Given the description of an element on the screen output the (x, y) to click on. 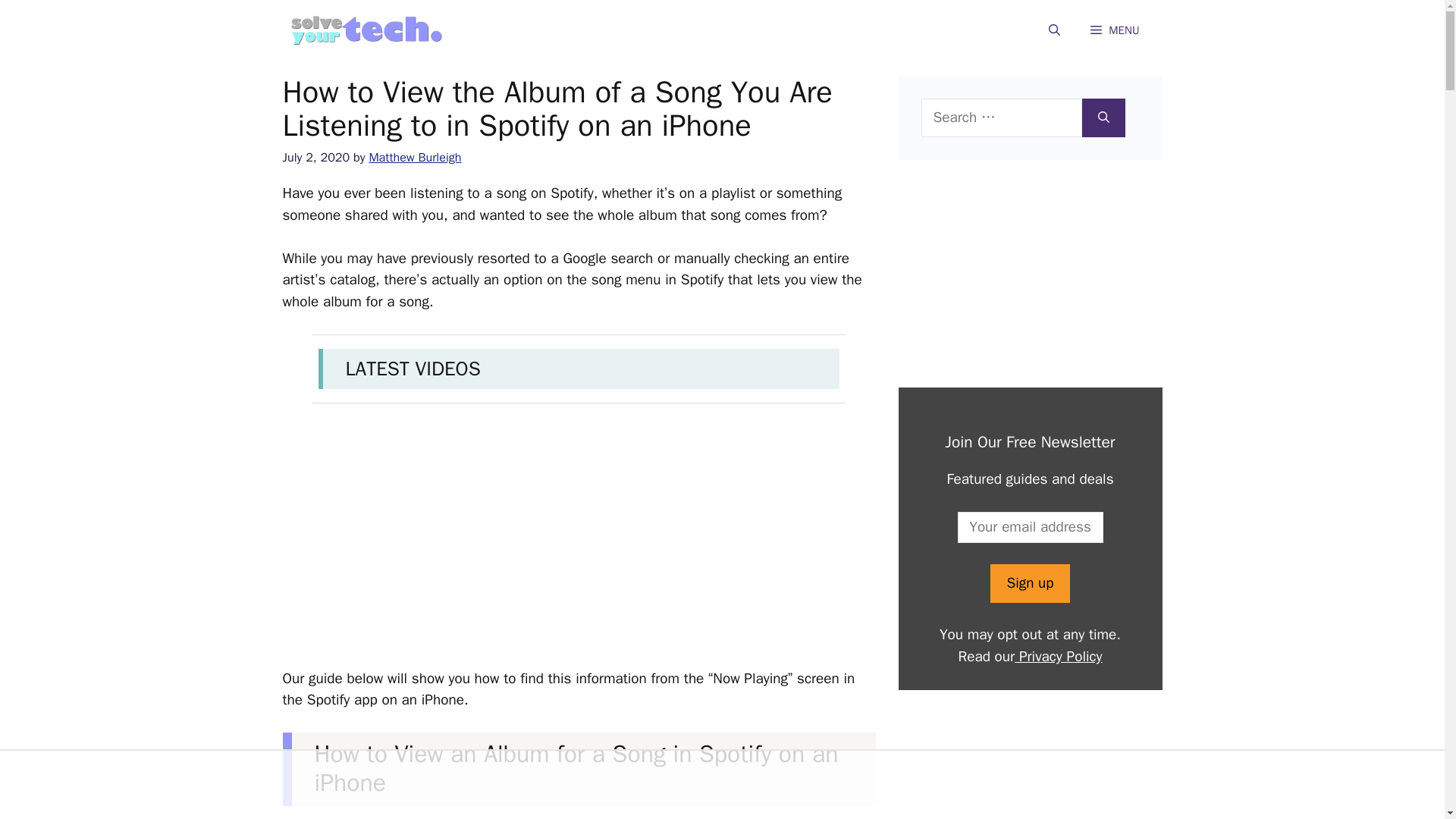
Matthew Burleigh (414, 157)
Sign up (1029, 583)
MENU (1114, 30)
